Given the description of an element on the screen output the (x, y) to click on. 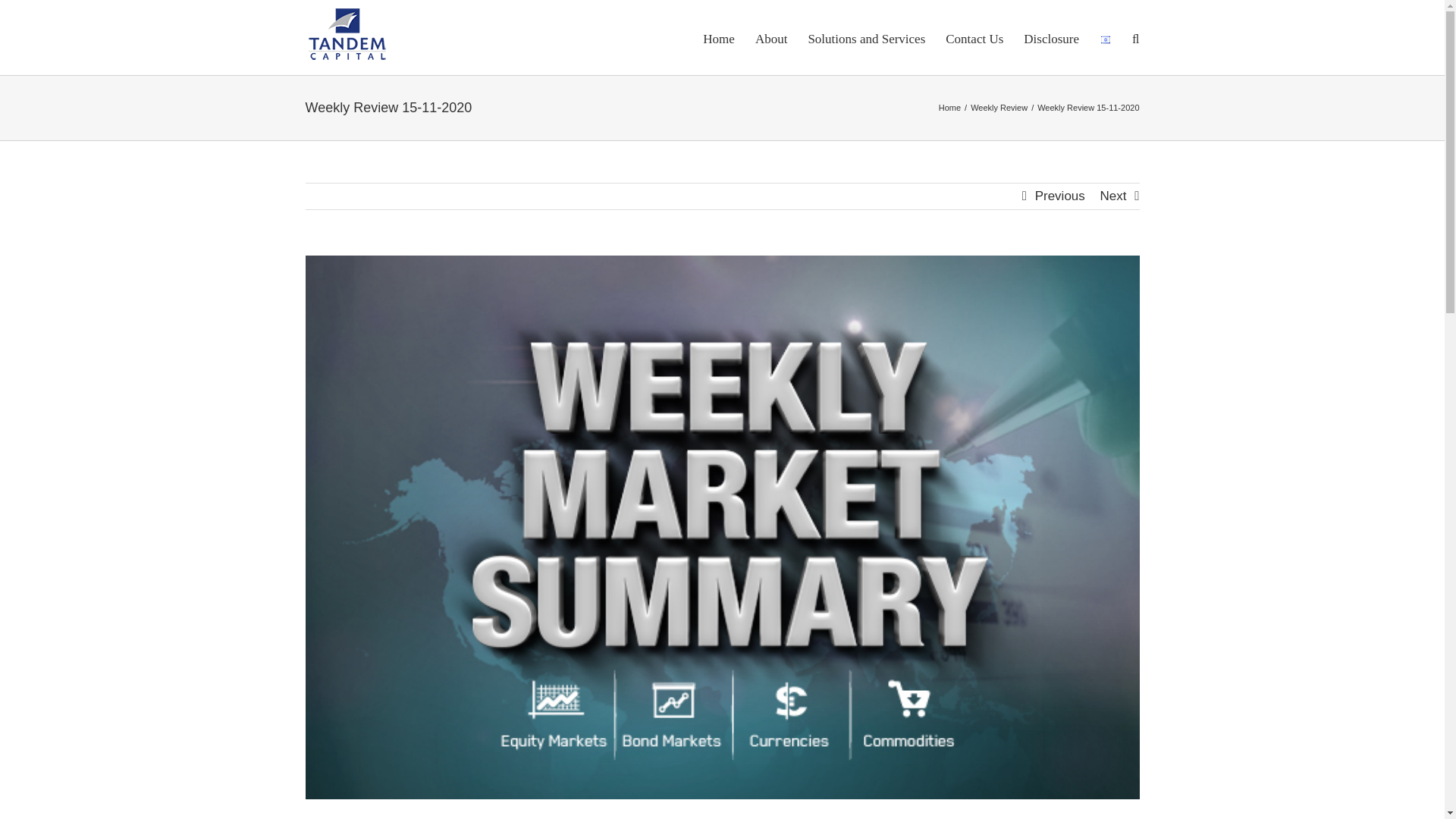
Solutions and Services (866, 37)
